Given the description of an element on the screen output the (x, y) to click on. 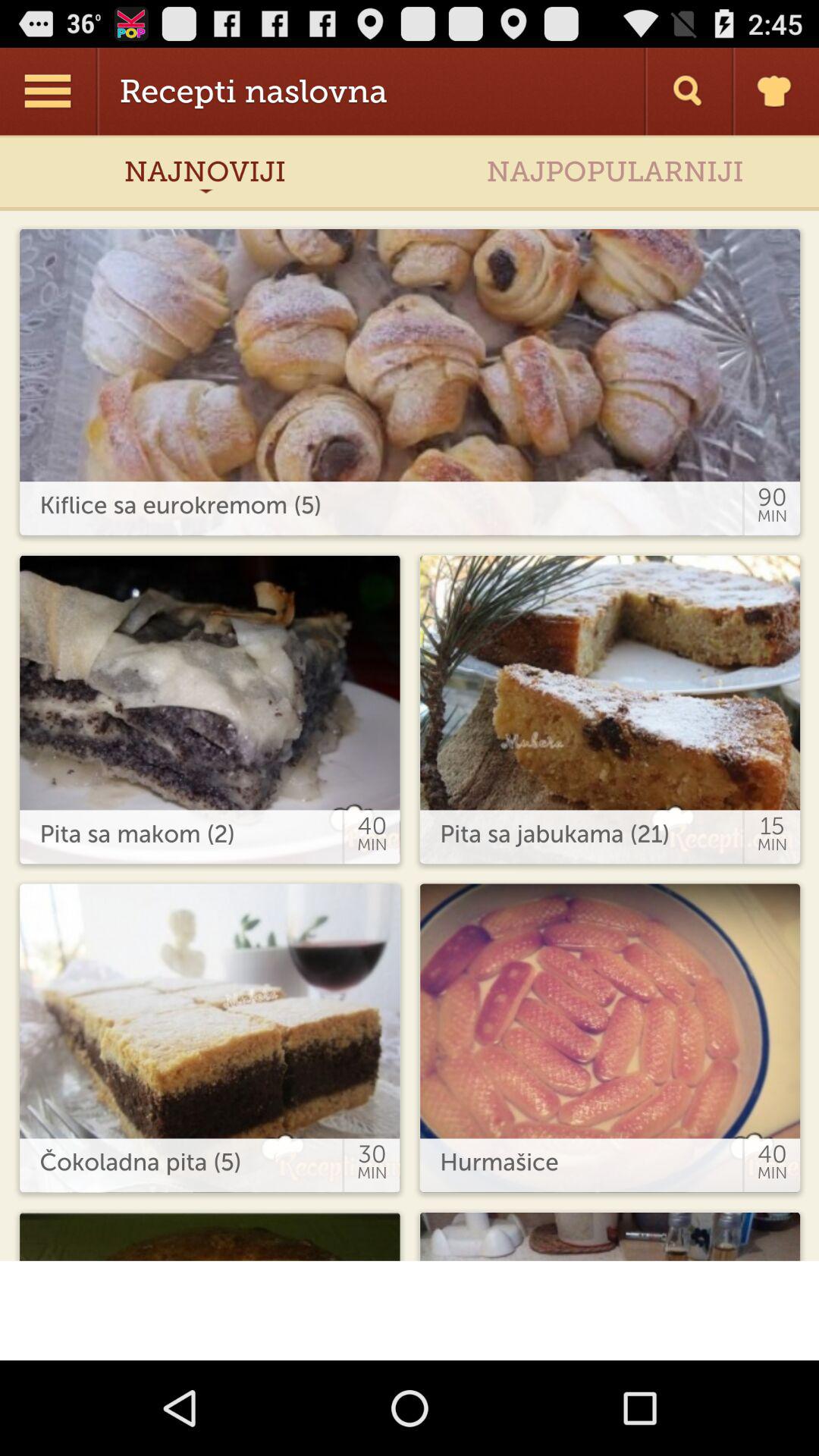
select the menu (49, 91)
